Given the description of an element on the screen output the (x, y) to click on. 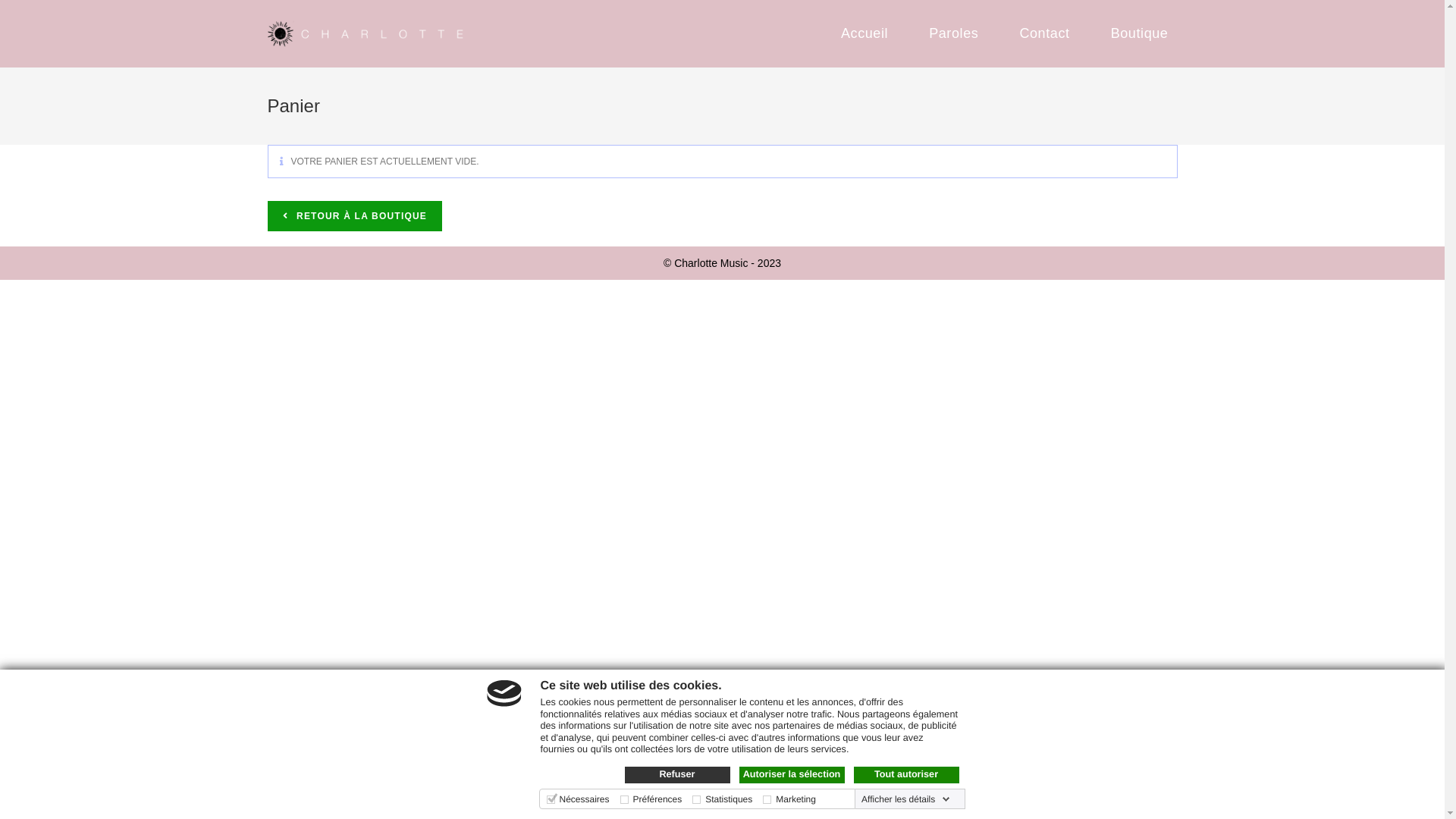
Contact Element type: text (1043, 33)
Paroles Element type: text (953, 33)
Accueil Element type: text (864, 33)
Tout autoriser Element type: text (906, 774)
Boutique Element type: text (1139, 33)
Refuser Element type: text (677, 774)
